Given the description of an element on the screen output the (x, y) to click on. 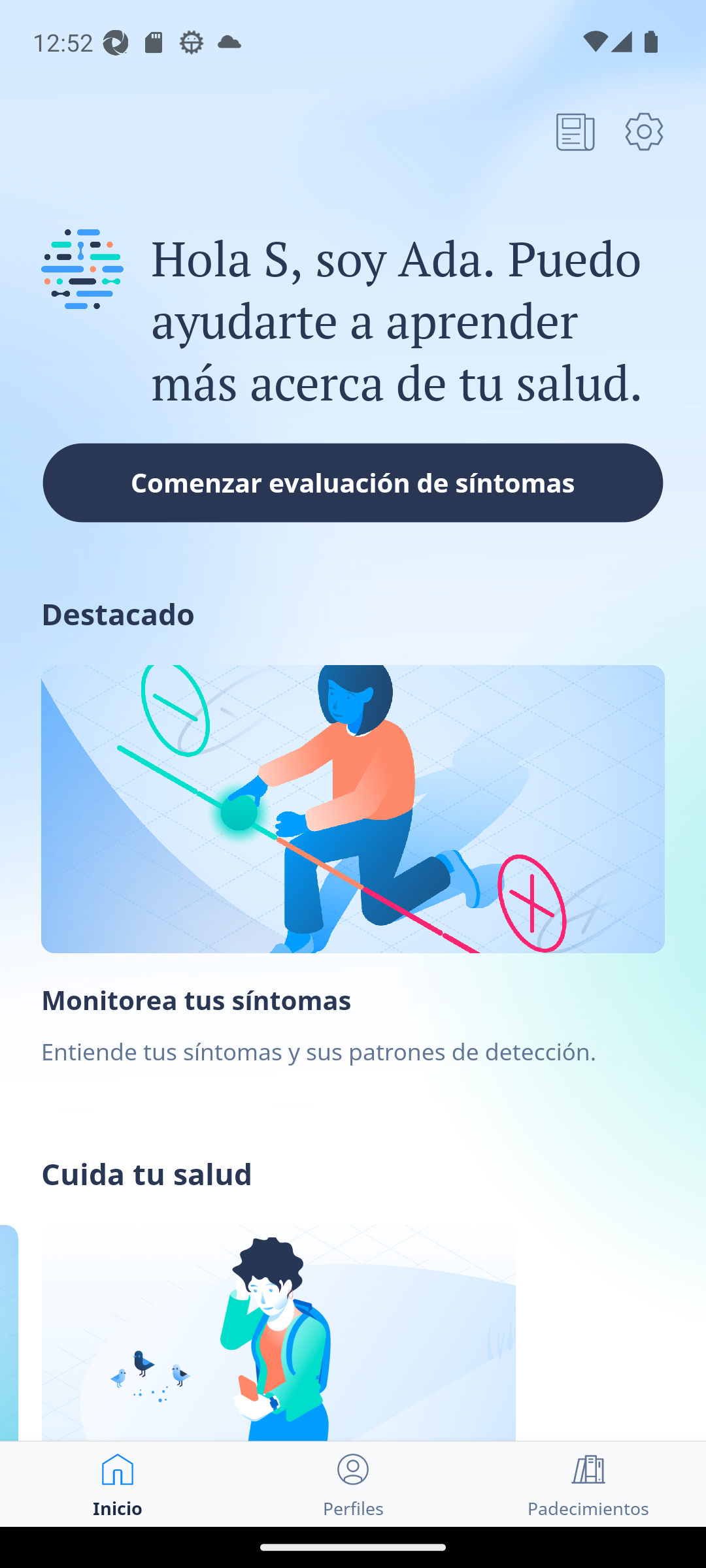
article icon , open articles (574, 131)
settings icon, open settings (644, 131)
Comenzar evaluación de síntomas (352, 482)
Inicio (117, 1484)
Perfiles (352, 1484)
Padecimientos (588, 1484)
